Given the description of an element on the screen output the (x, y) to click on. 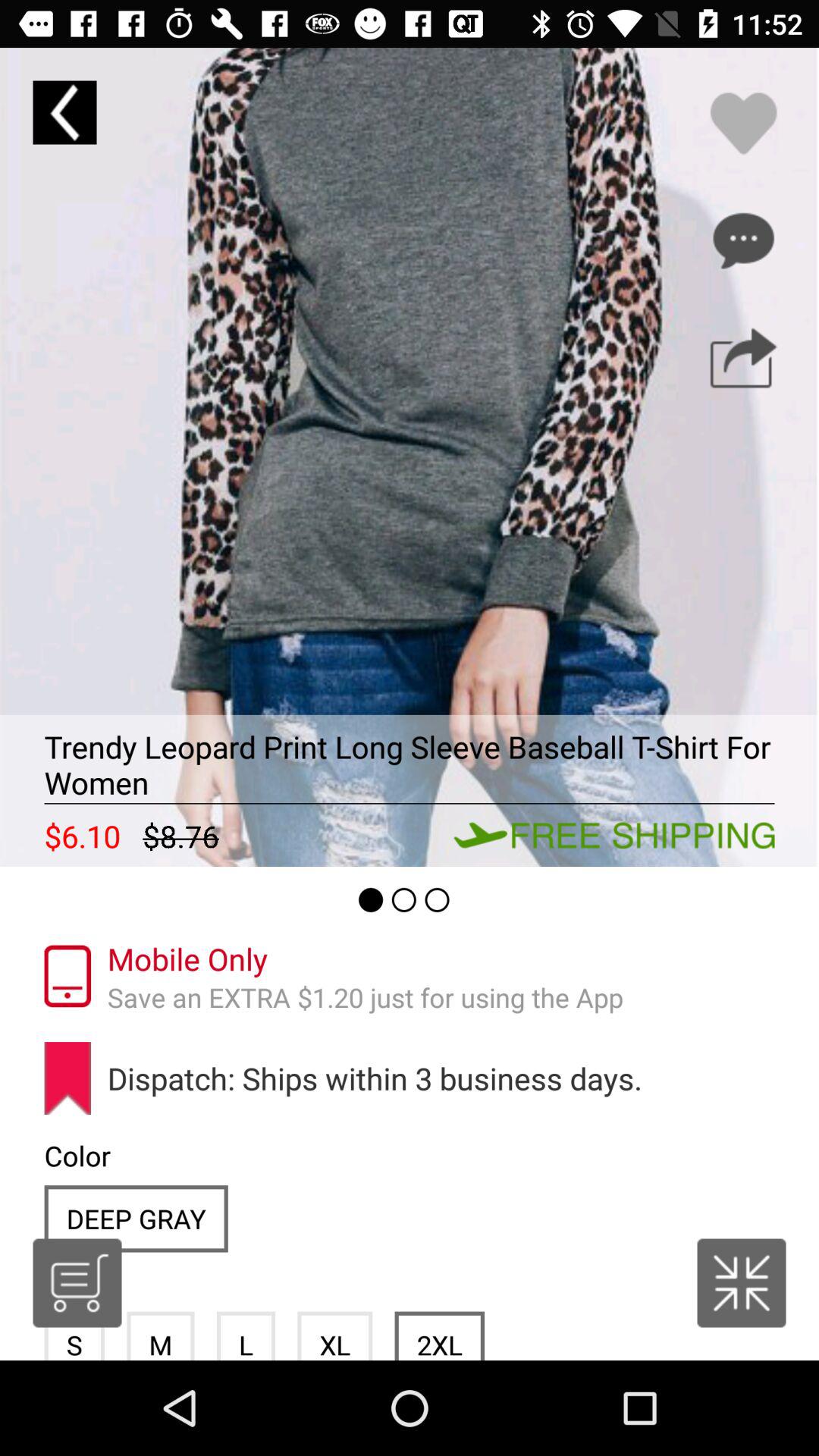
tap the icon at the bottom right corner (741, 1282)
